Given the description of an element on the screen output the (x, y) to click on. 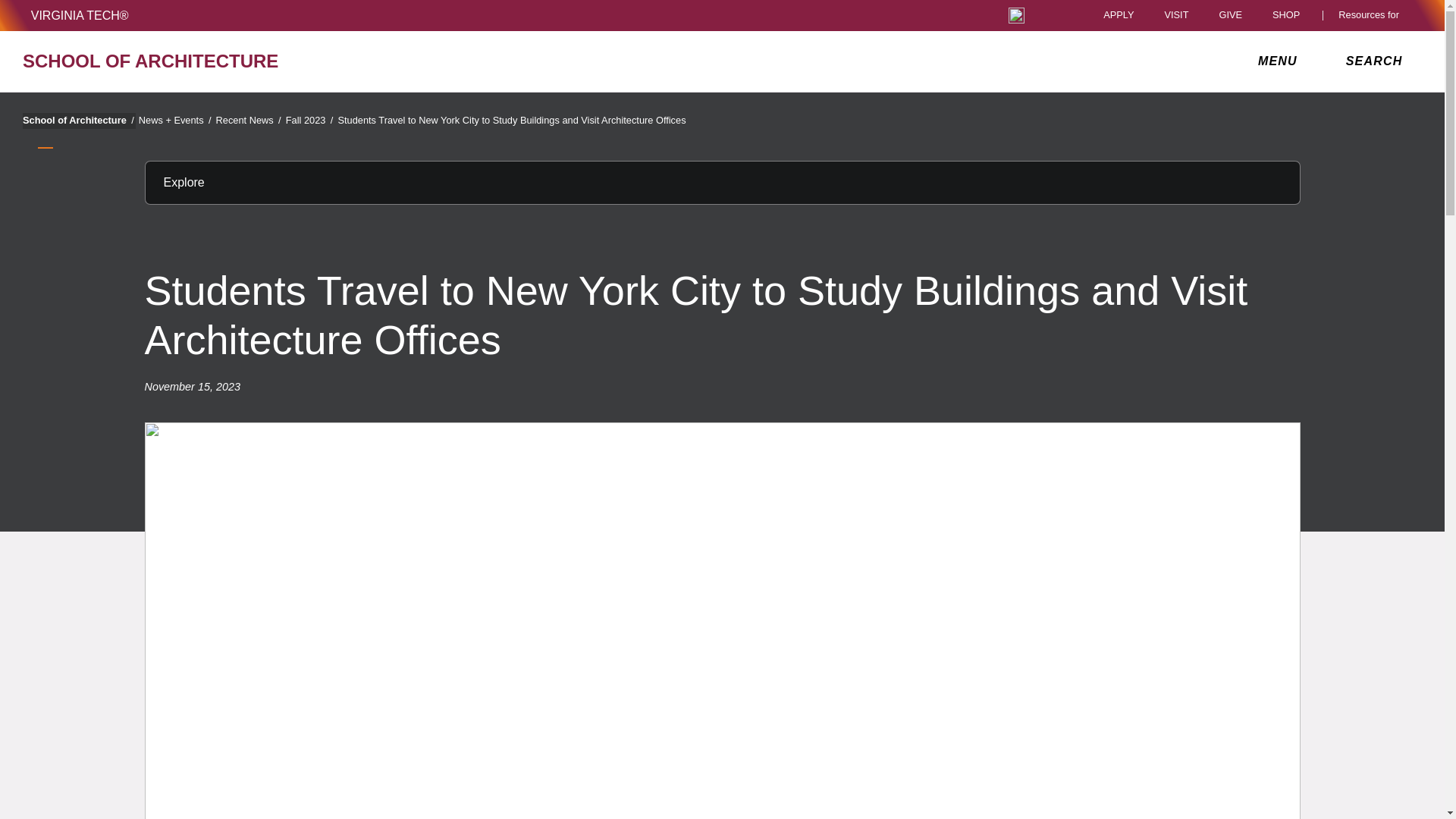
APPLY (1118, 15)
SCHOOL OF ARCHITECTURE (250, 60)
SHOP (1289, 15)
Resources for (1372, 15)
Universal Access Toggle (1017, 15)
GIVE (1229, 15)
VISIT (1175, 15)
MENU (1280, 61)
